Given the description of an element on the screen output the (x, y) to click on. 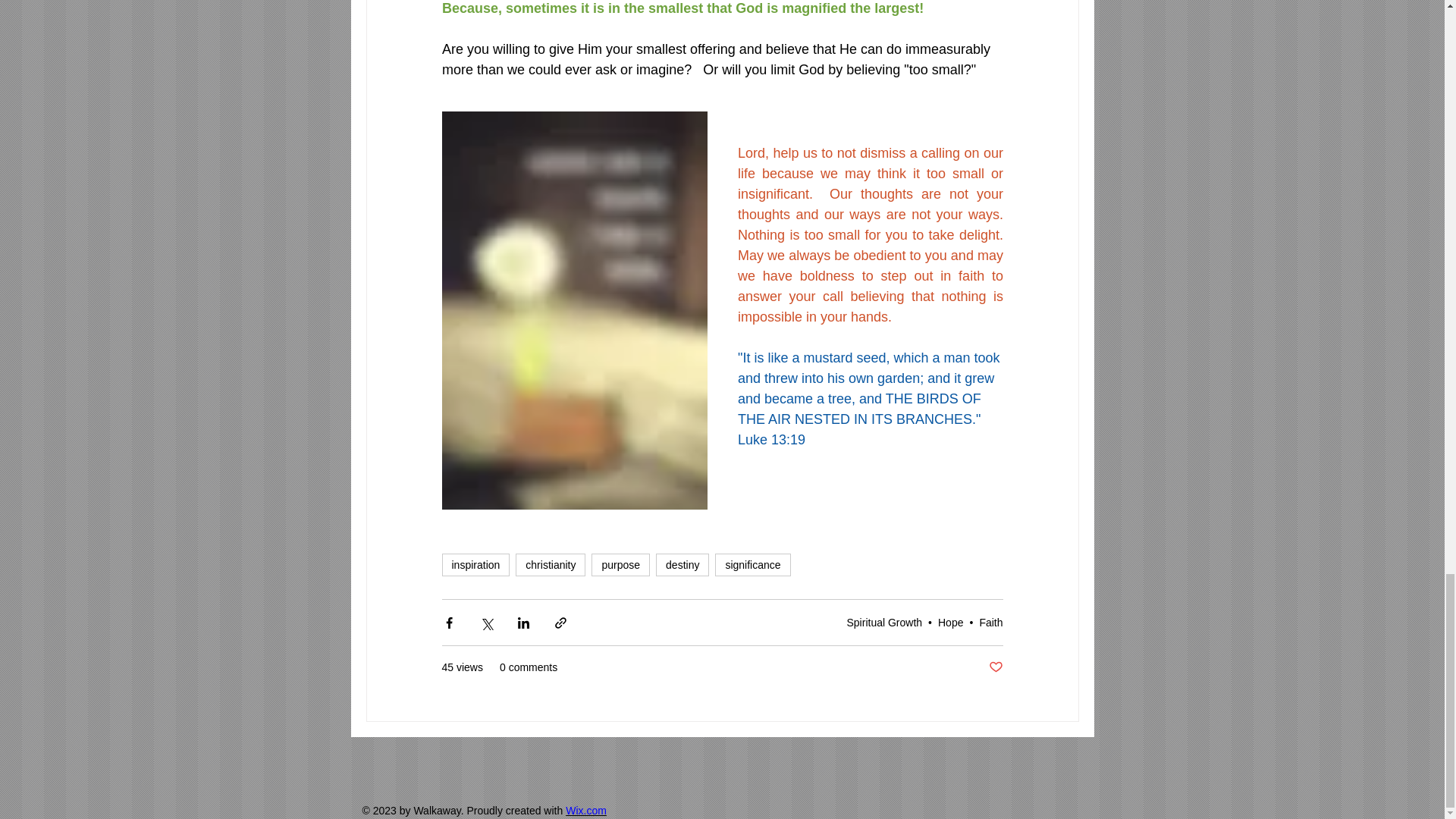
inspiration (475, 564)
purpose (620, 564)
significance (752, 564)
christianity (550, 564)
destiny (682, 564)
